Given the description of an element on the screen output the (x, y) to click on. 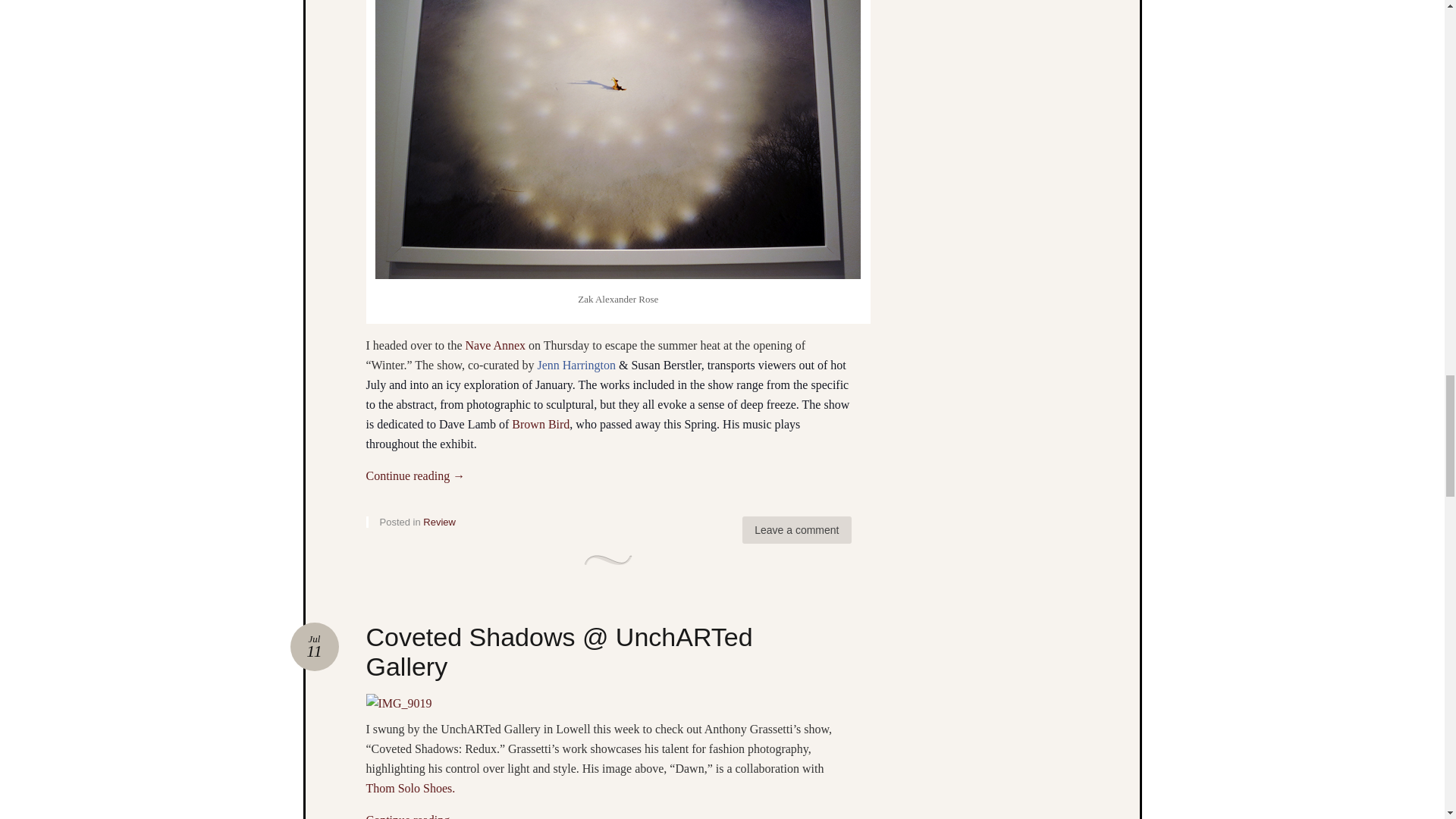
Leave a comment (796, 529)
Jenn Harrington (576, 364)
Brown Bird (540, 423)
Nave Annex (497, 345)
July 11 2014 (313, 646)
